Given the description of an element on the screen output the (x, y) to click on. 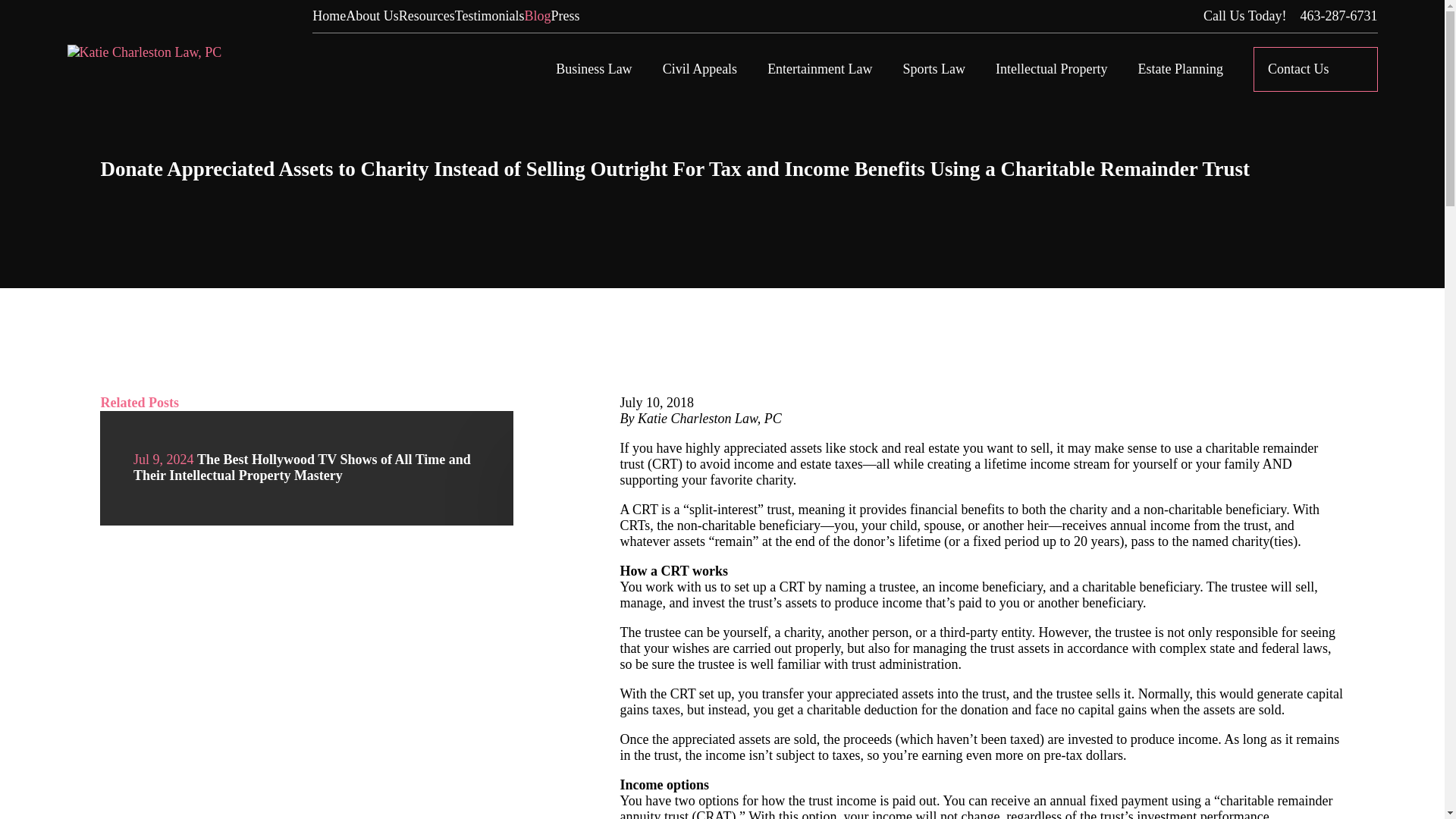
Blog (537, 15)
Civil Appeals (700, 69)
Business Law (593, 69)
Home (143, 52)
463-287-6731 (1338, 16)
About Us (372, 15)
Press (565, 15)
Sports Law (934, 69)
Intellectual Property (1050, 69)
Entertainment Law (819, 69)
